Given the description of an element on the screen output the (x, y) to click on. 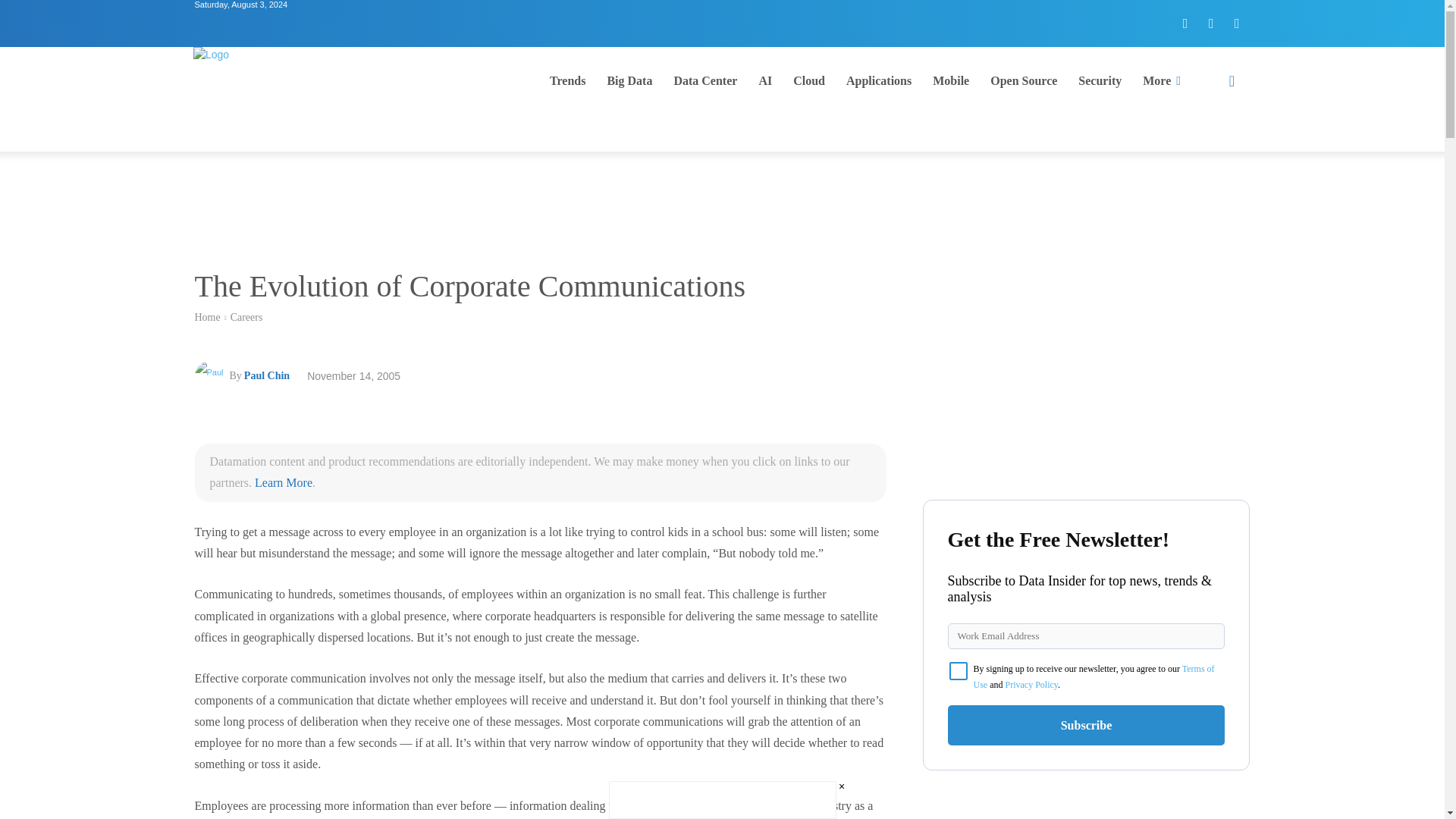
Cloud (809, 81)
Learn More (283, 481)
Home (206, 317)
Twitter (1211, 23)
Trends (566, 81)
Careers (246, 317)
View all posts in Careers (246, 317)
Mobile (950, 81)
Data Center (705, 81)
AI (765, 81)
